Given the description of an element on the screen output the (x, y) to click on. 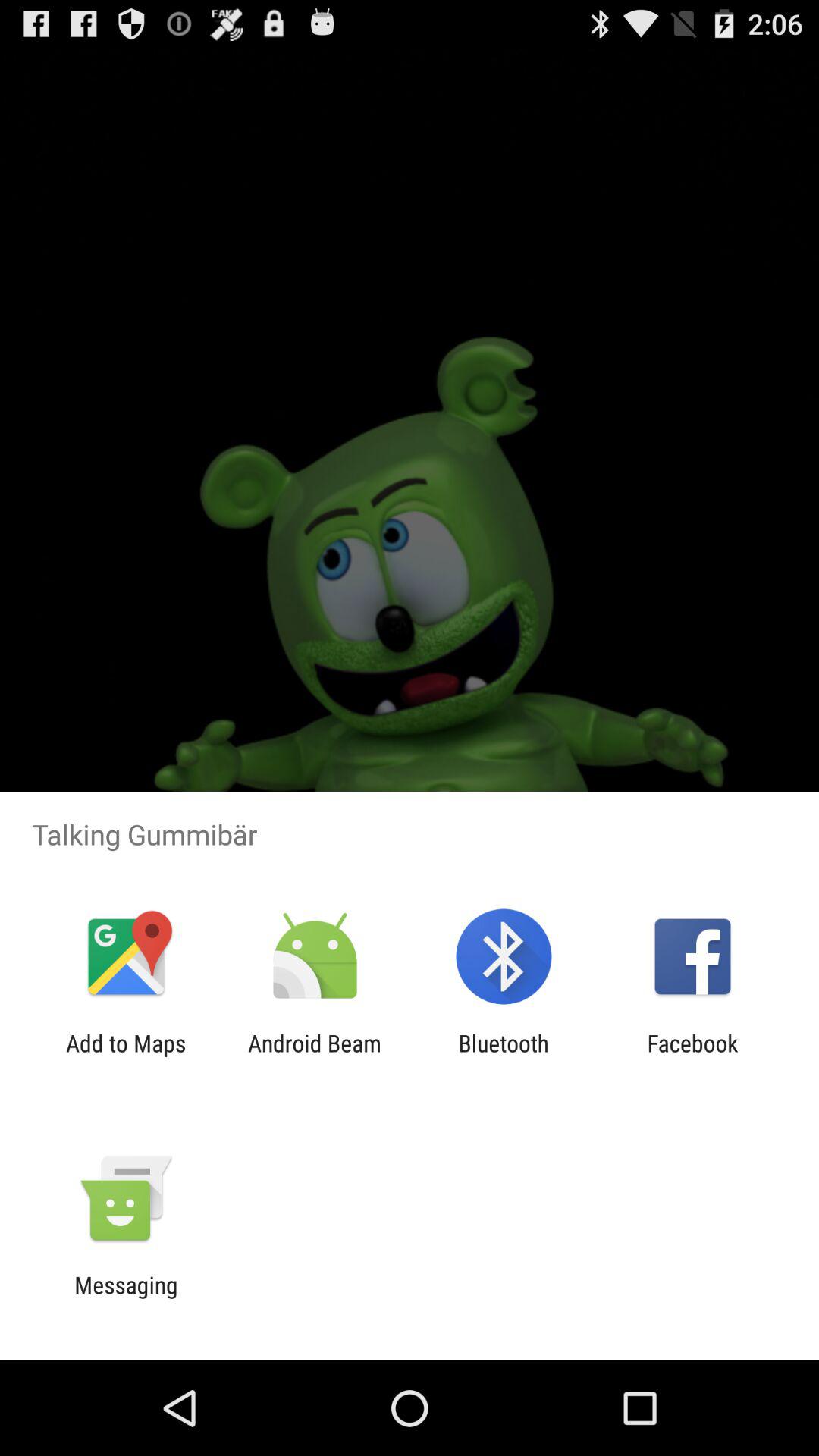
select the app at the bottom right corner (692, 1056)
